Given the description of an element on the screen output the (x, y) to click on. 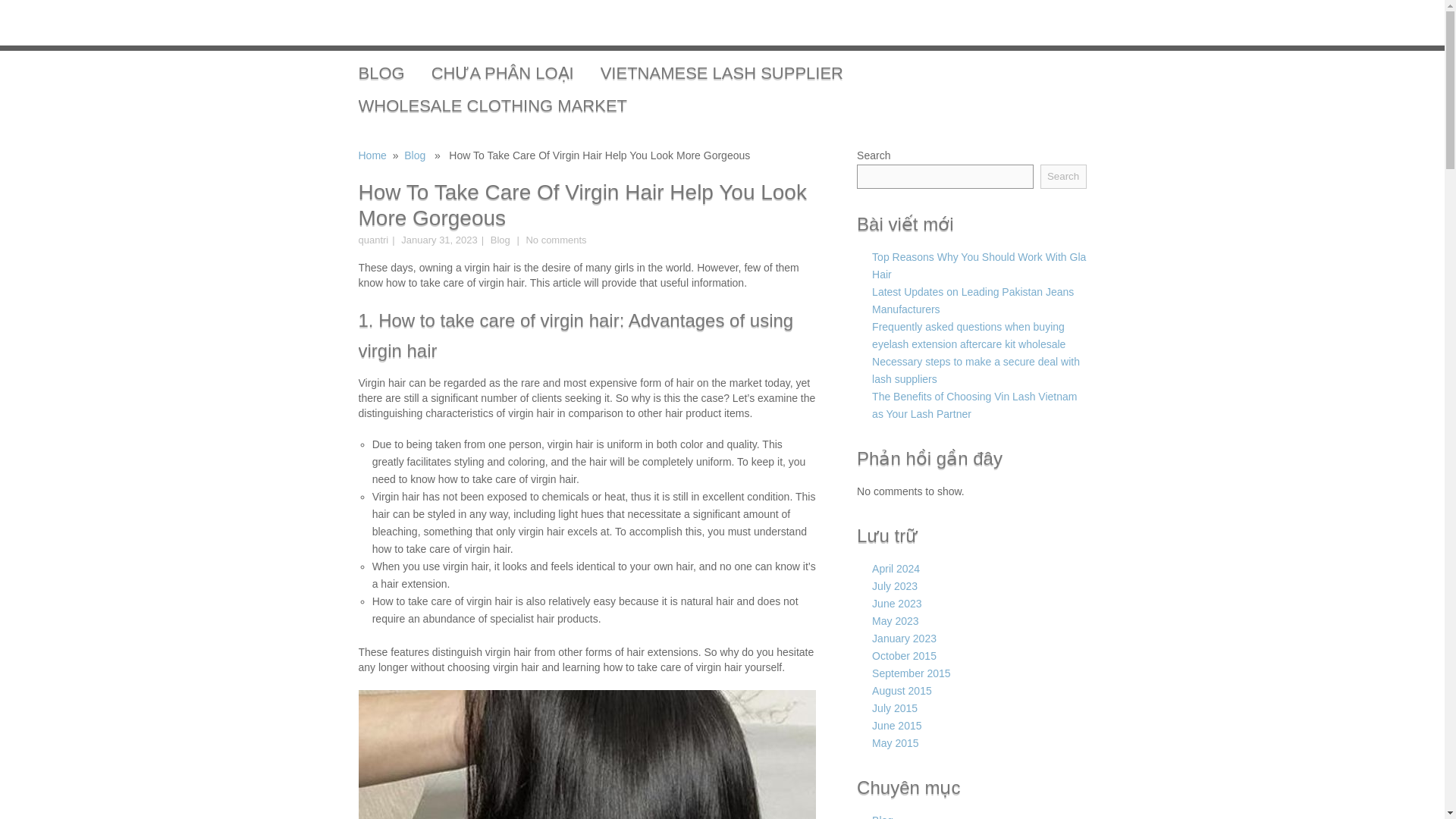
No comments (554, 239)
May 2023 (895, 621)
July 2015 (894, 707)
Necessary steps to make a secure deal with lash suppliers (976, 369)
January 2023 (904, 638)
July 2023 (894, 585)
September 2015 (911, 673)
Search (1063, 176)
